Given the description of an element on the screen output the (x, y) to click on. 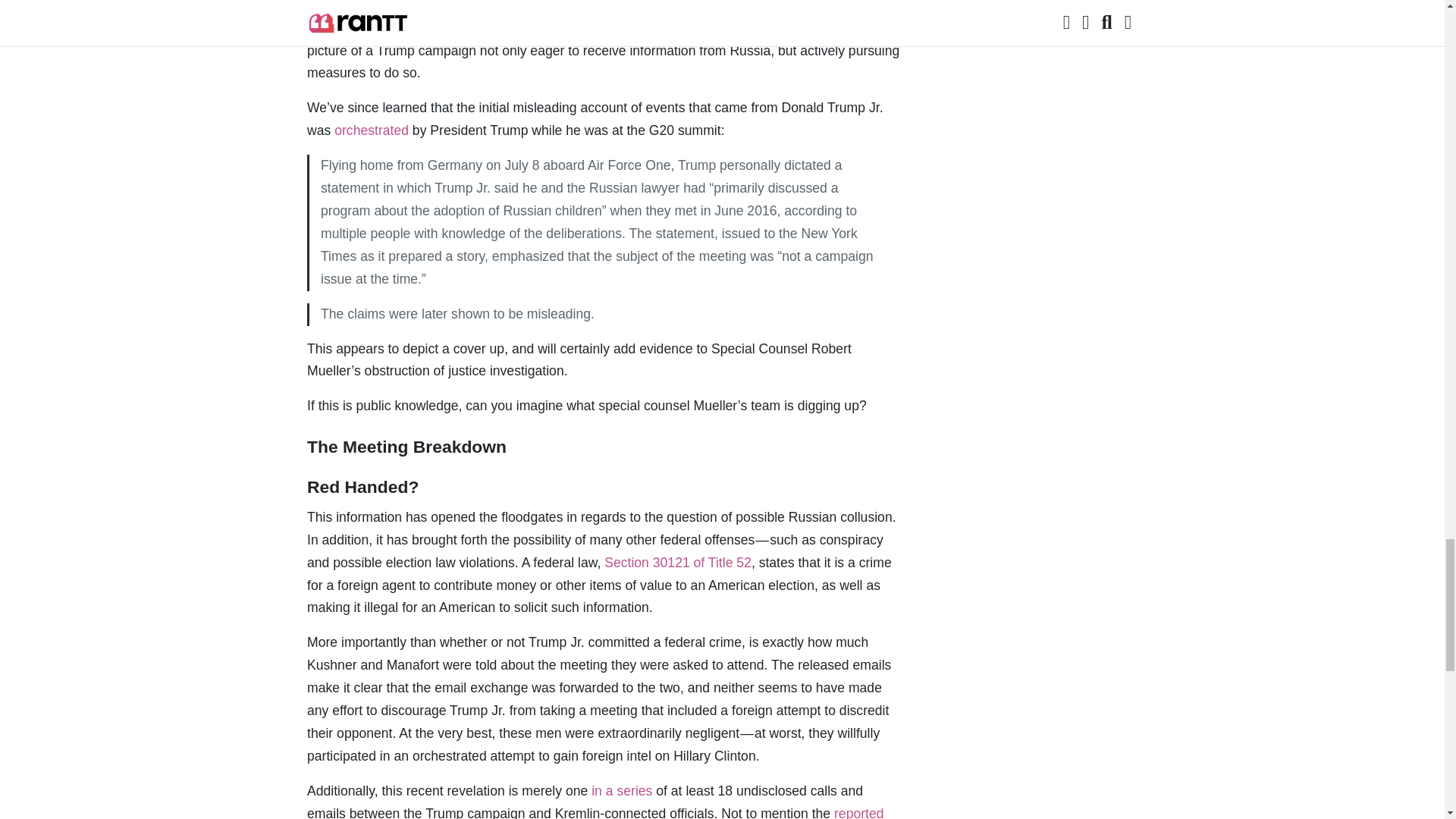
in a series (621, 790)
reported (858, 812)
orchestrated (371, 130)
reported (713, 6)
Section 30121 of Title 52 (677, 562)
